Given the description of an element on the screen output the (x, y) to click on. 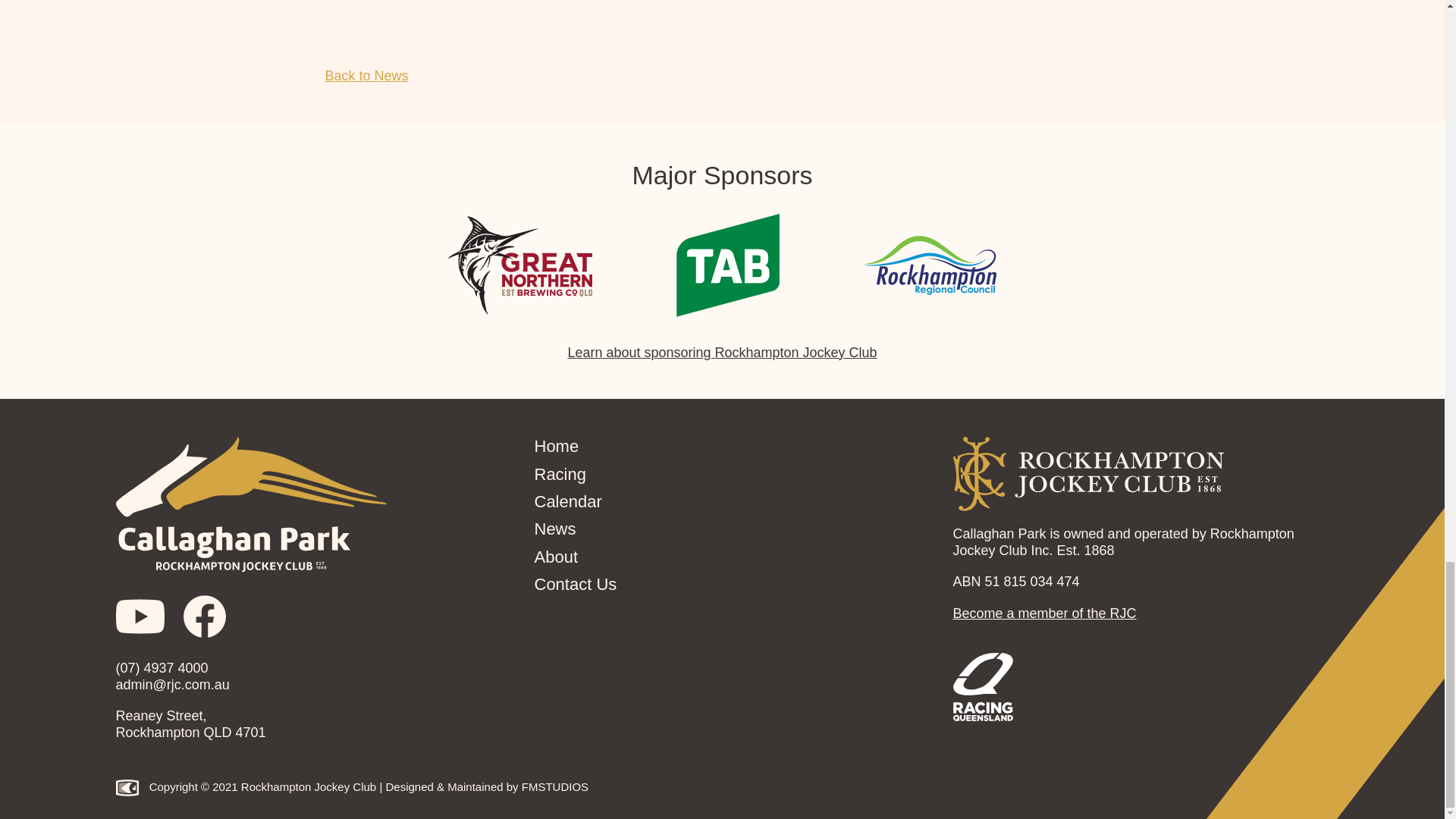
Back to News (365, 75)
